Given the description of an element on the screen output the (x, y) to click on. 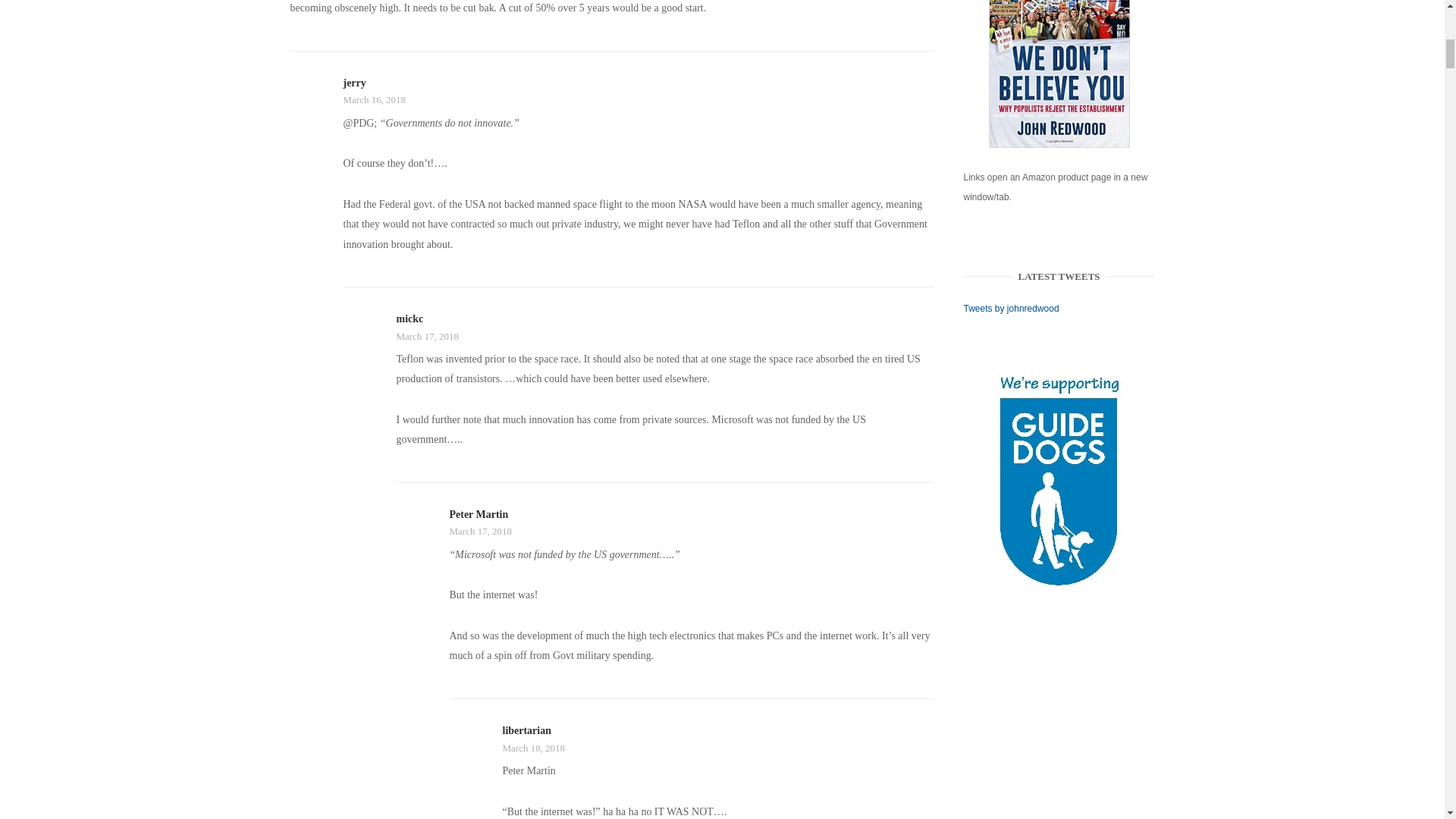
Tweets by johnredwood (1011, 308)
